Given the description of an element on the screen output the (x, y) to click on. 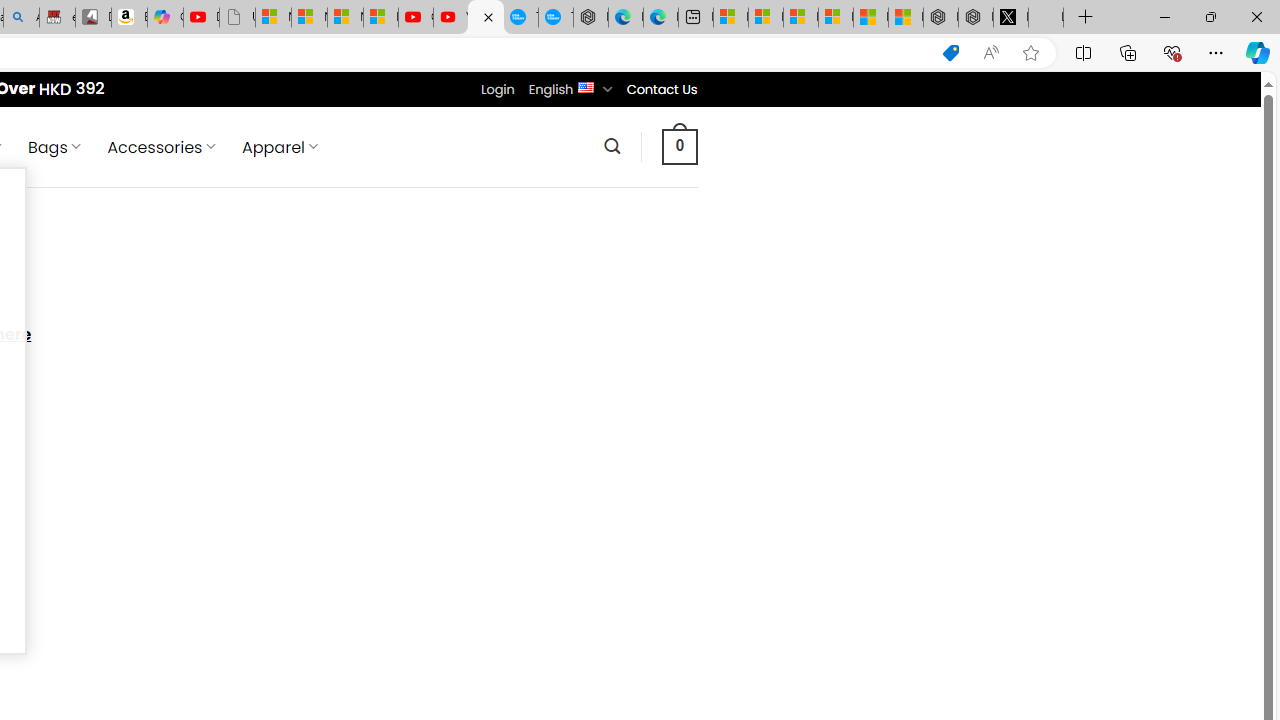
Login (497, 89)
This site has coupons! Shopping in Microsoft Edge (950, 53)
 0  (679, 146)
Nordace (@NordaceOfficial) / X (1010, 17)
Nordace - Contact Us (485, 17)
Microsoft account | Privacy (835, 17)
